Given the description of an element on the screen output the (x, y) to click on. 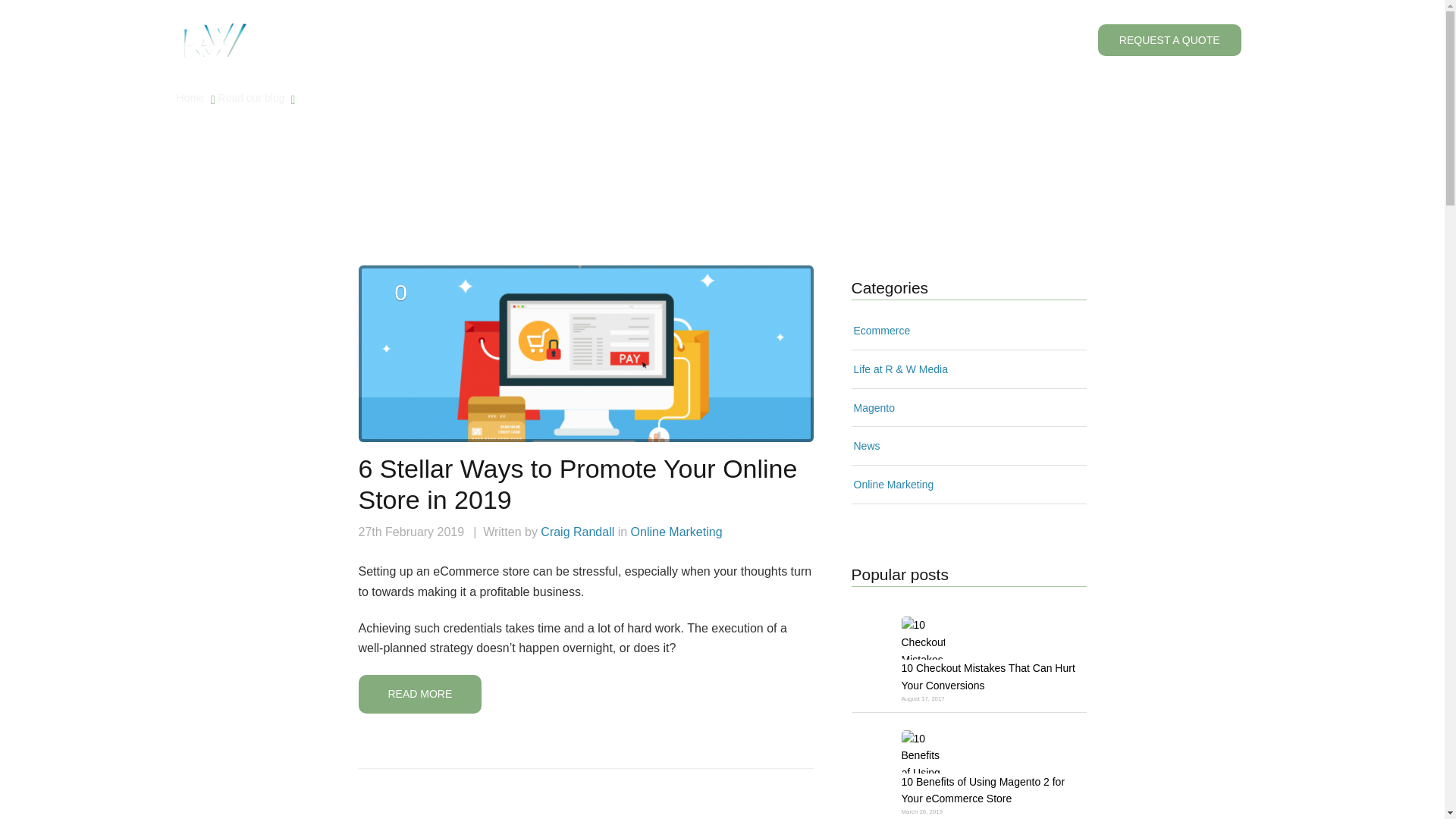
0 (400, 299)
Read our blog (253, 97)
OUR WORK (744, 39)
Online Marketing (676, 531)
REQUEST A QUOTE (1169, 40)
WHO WE ARE (574, 39)
HOME (397, 39)
READ OUR BLOG (476, 39)
Home (191, 97)
GET IN TOUCH (829, 39)
